Given the description of an element on the screen output the (x, y) to click on. 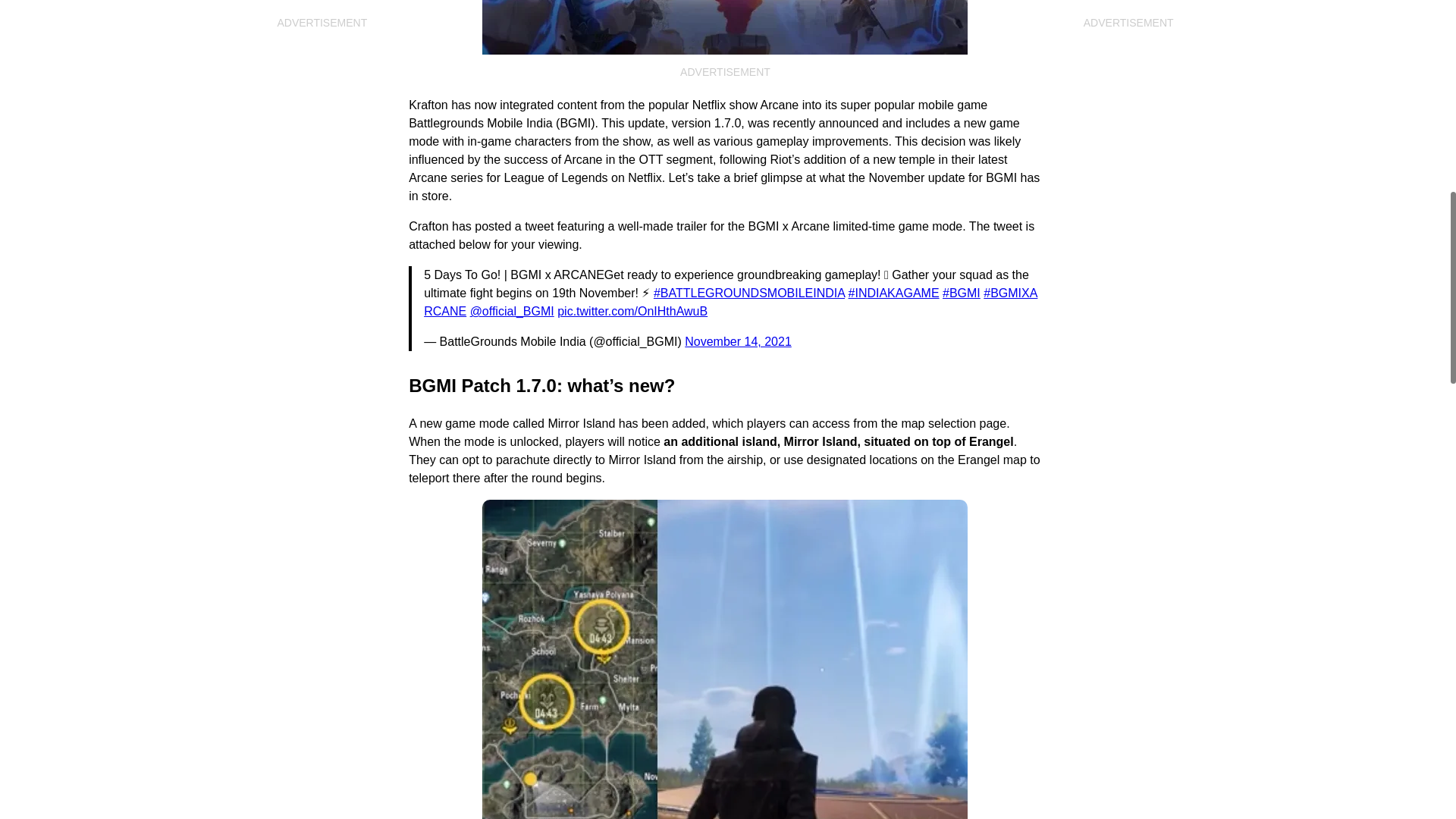
November 14, 2021 (738, 341)
Advertisement (321, 68)
